Given the description of an element on the screen output the (x, y) to click on. 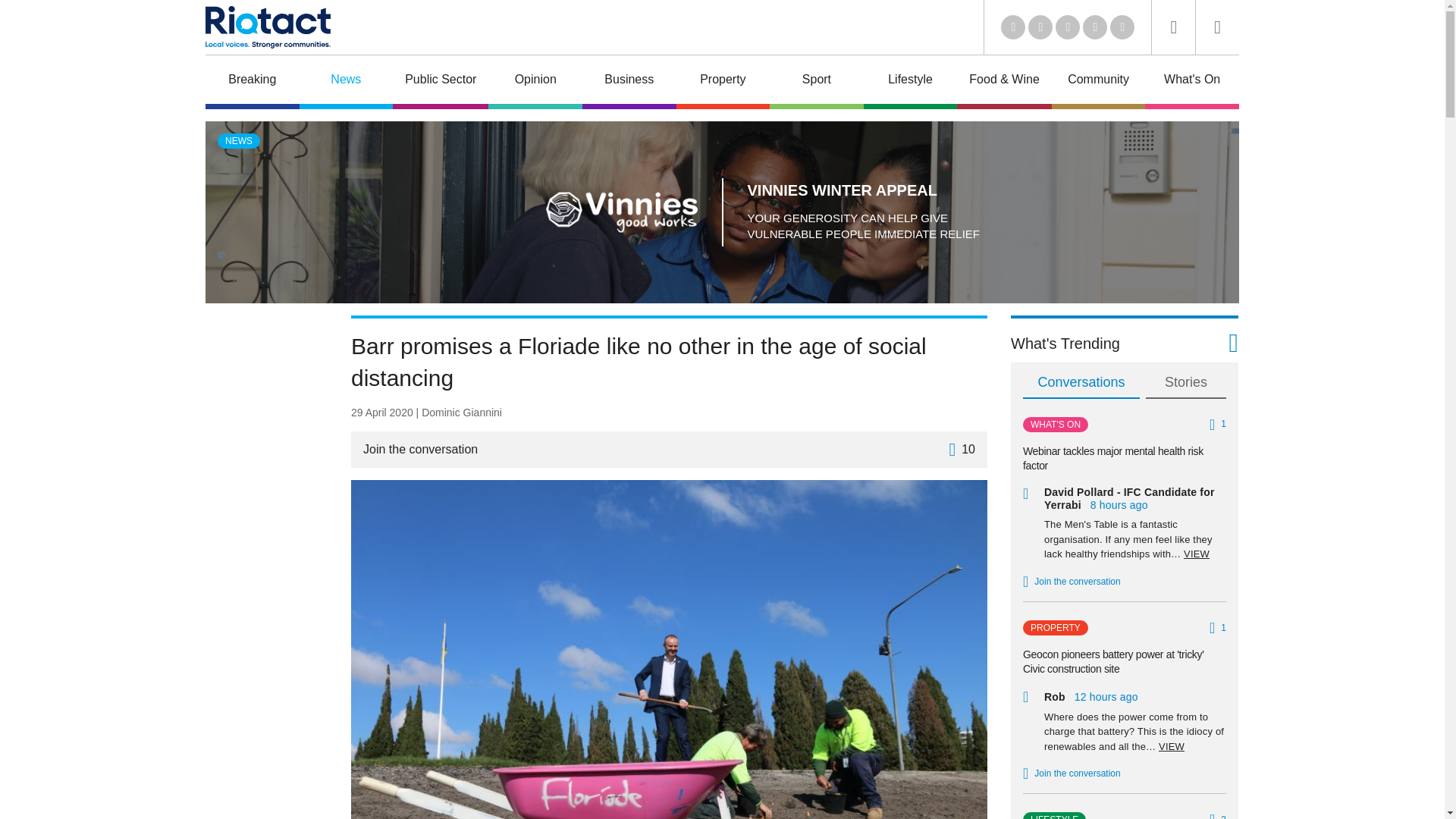
Breaking (252, 81)
LinkedIn (1013, 27)
Instagram (1121, 27)
News (346, 81)
Riotact Home (267, 26)
Twitter (1039, 27)
Facebook (1094, 27)
Youtube (1067, 27)
